Given the description of an element on the screen output the (x, y) to click on. 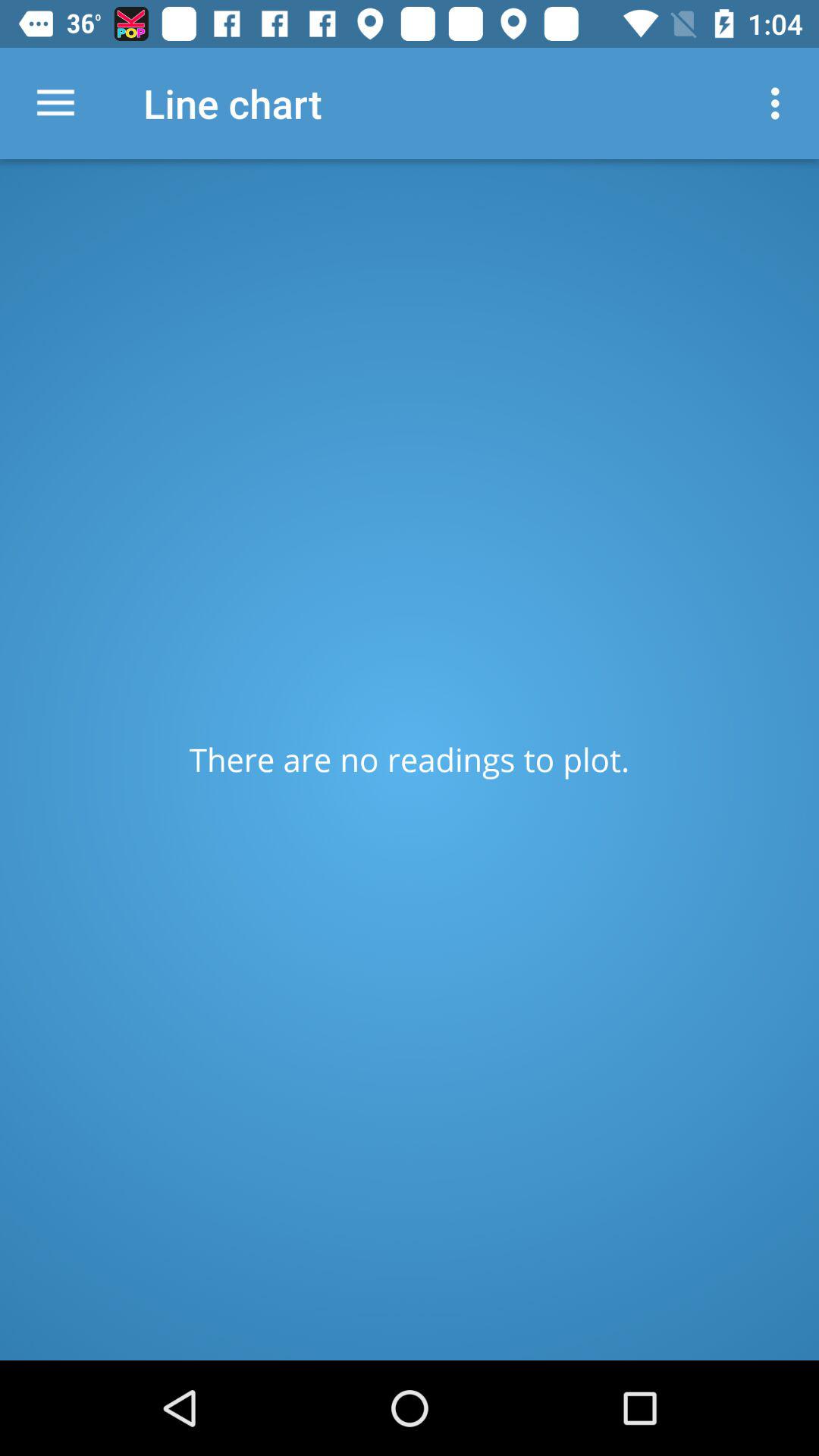
select icon to the left of the line chart (55, 103)
